Given the description of an element on the screen output the (x, y) to click on. 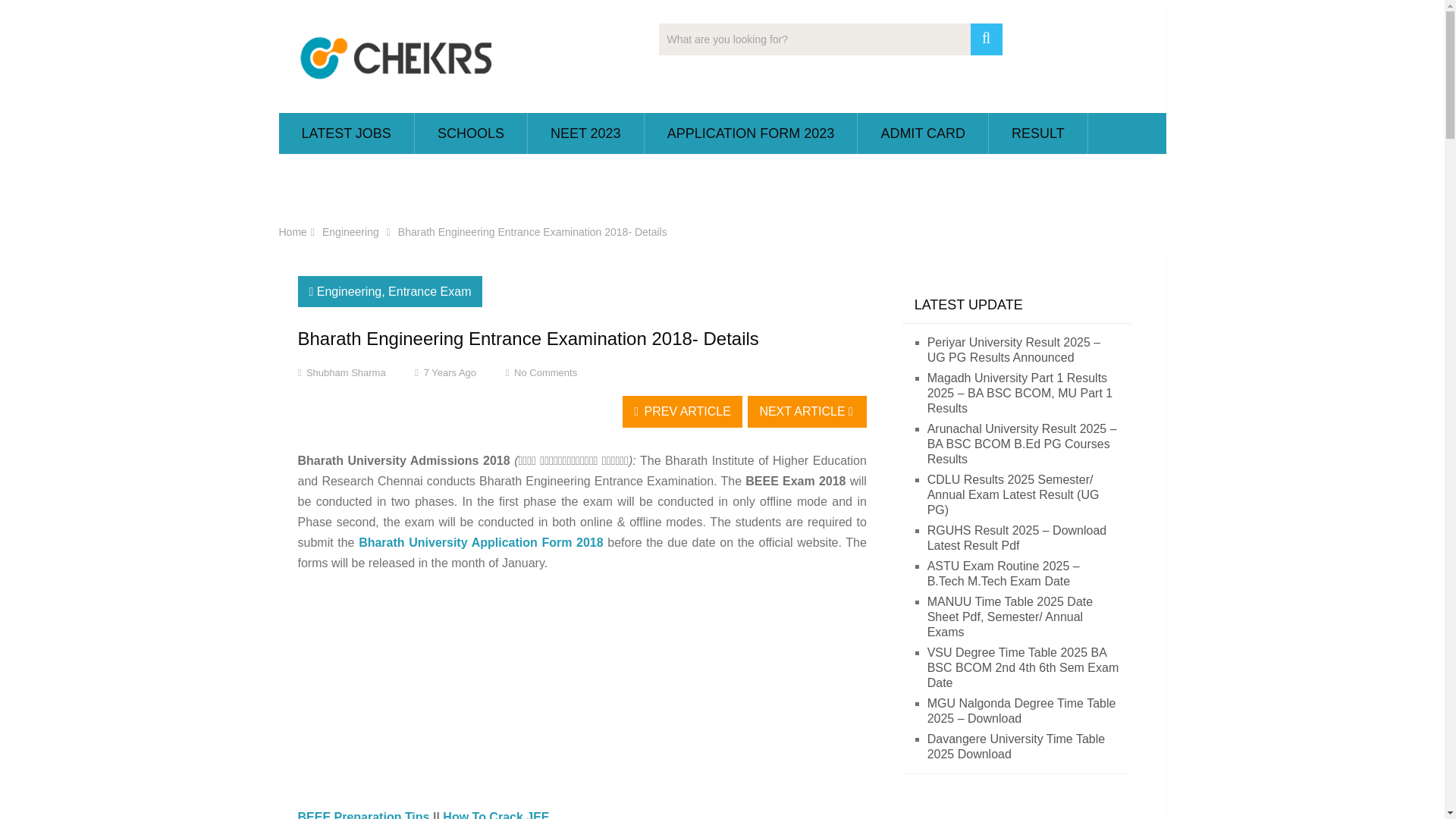
SCHOOLS (470, 133)
NEET 2023 (585, 133)
BEEE Preparation Tips (363, 814)
Entrance Exam (429, 291)
Engineering (349, 232)
No Comments (544, 372)
Advertisement (582, 694)
LATEST JOBS (346, 133)
Bharath University Application Form 2018 (482, 542)
APPLICATION FORM 2023 (751, 133)
